Given the description of an element on the screen output the (x, y) to click on. 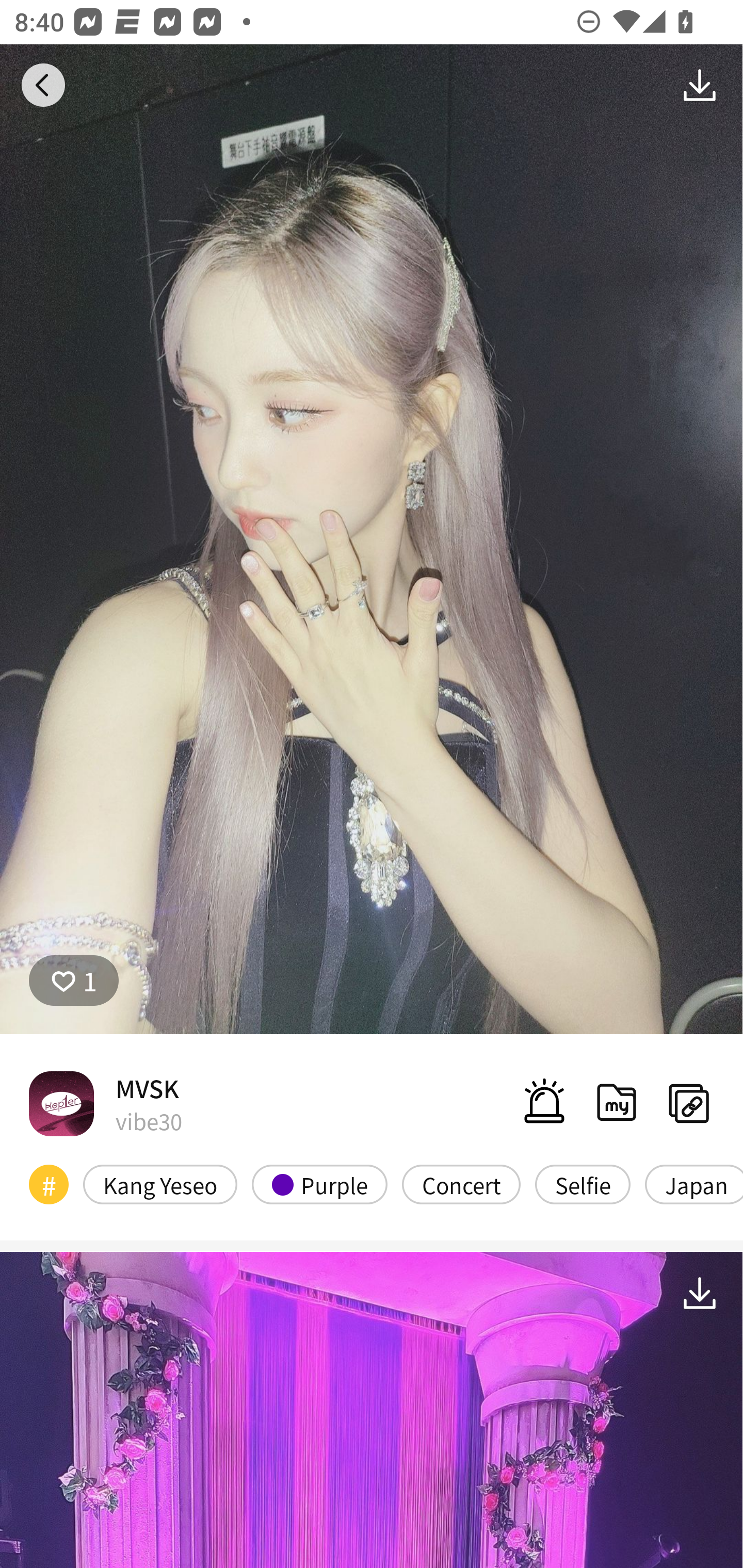
1 (73, 980)
MVSK vibe30 (105, 1102)
Kang Yeseo (160, 1184)
Purple (319, 1184)
Concert (460, 1184)
Selfie (582, 1184)
Japan (693, 1184)
